Given the description of an element on the screen output the (x, y) to click on. 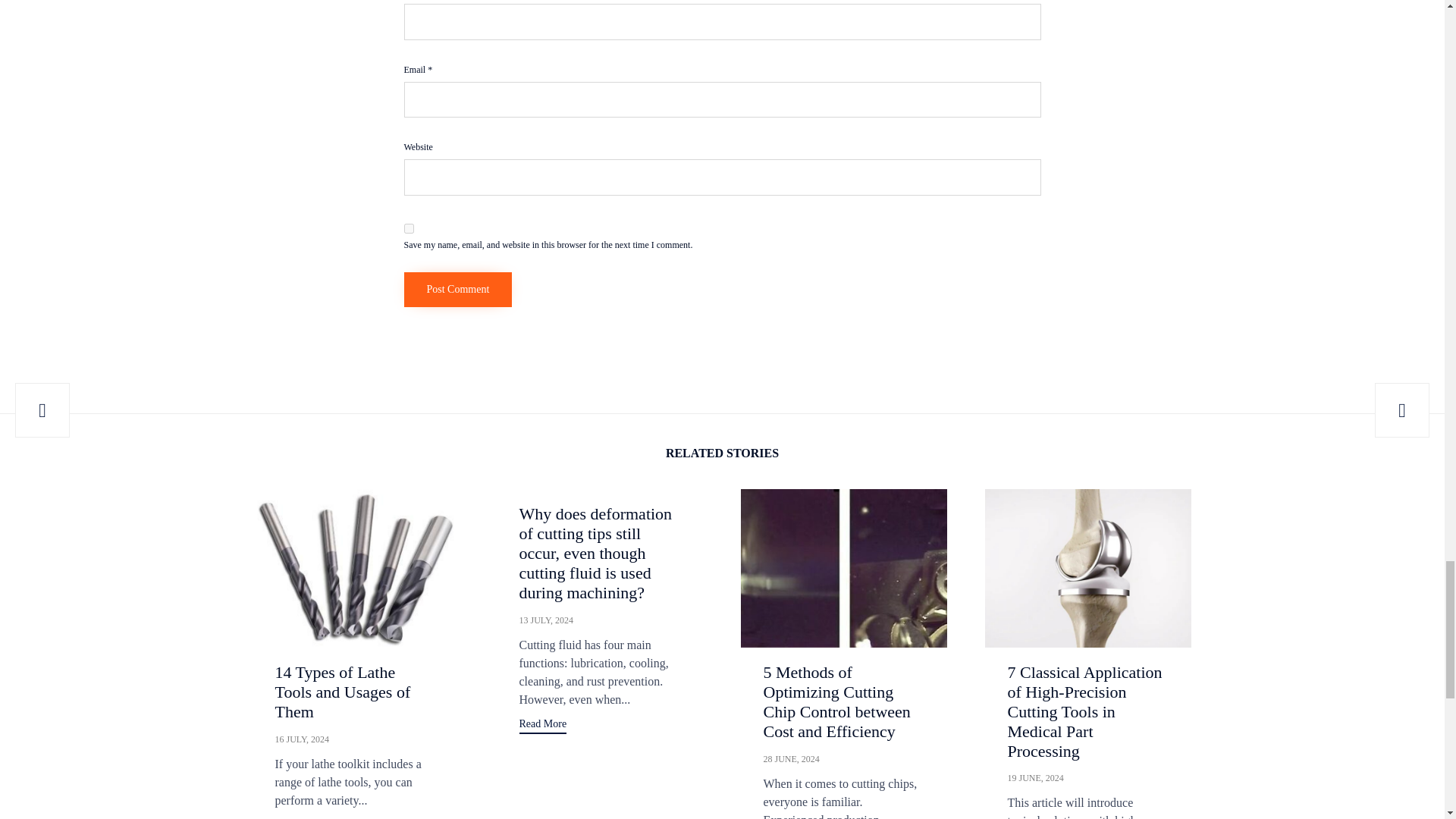
yes (408, 228)
Post Comment (457, 289)
